Given the description of an element on the screen output the (x, y) to click on. 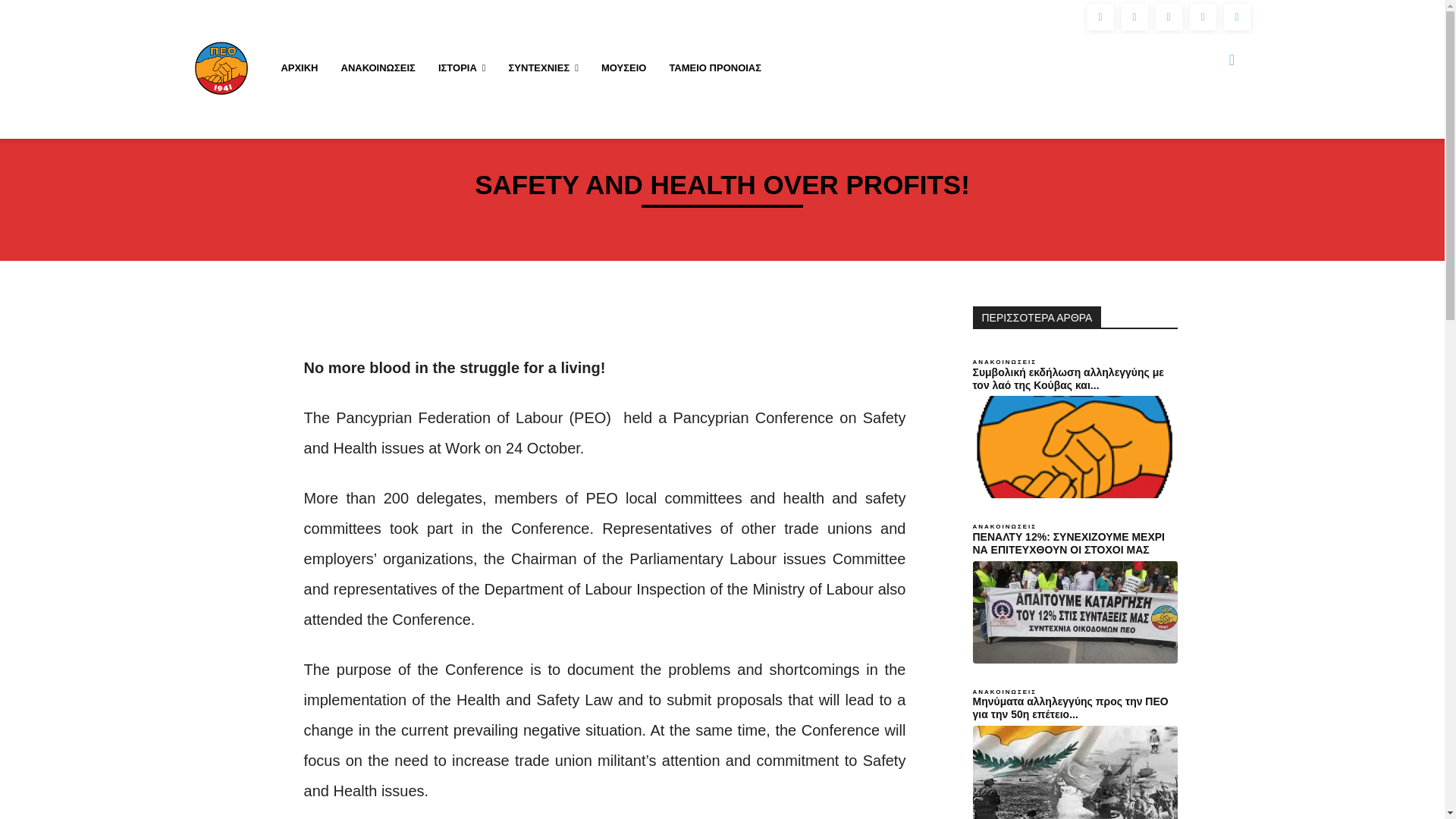
Instagram (1134, 17)
Twitter (1169, 17)
Language (1237, 17)
Youtube (1202, 17)
Facebook (1100, 17)
